Given the description of an element on the screen output the (x, y) to click on. 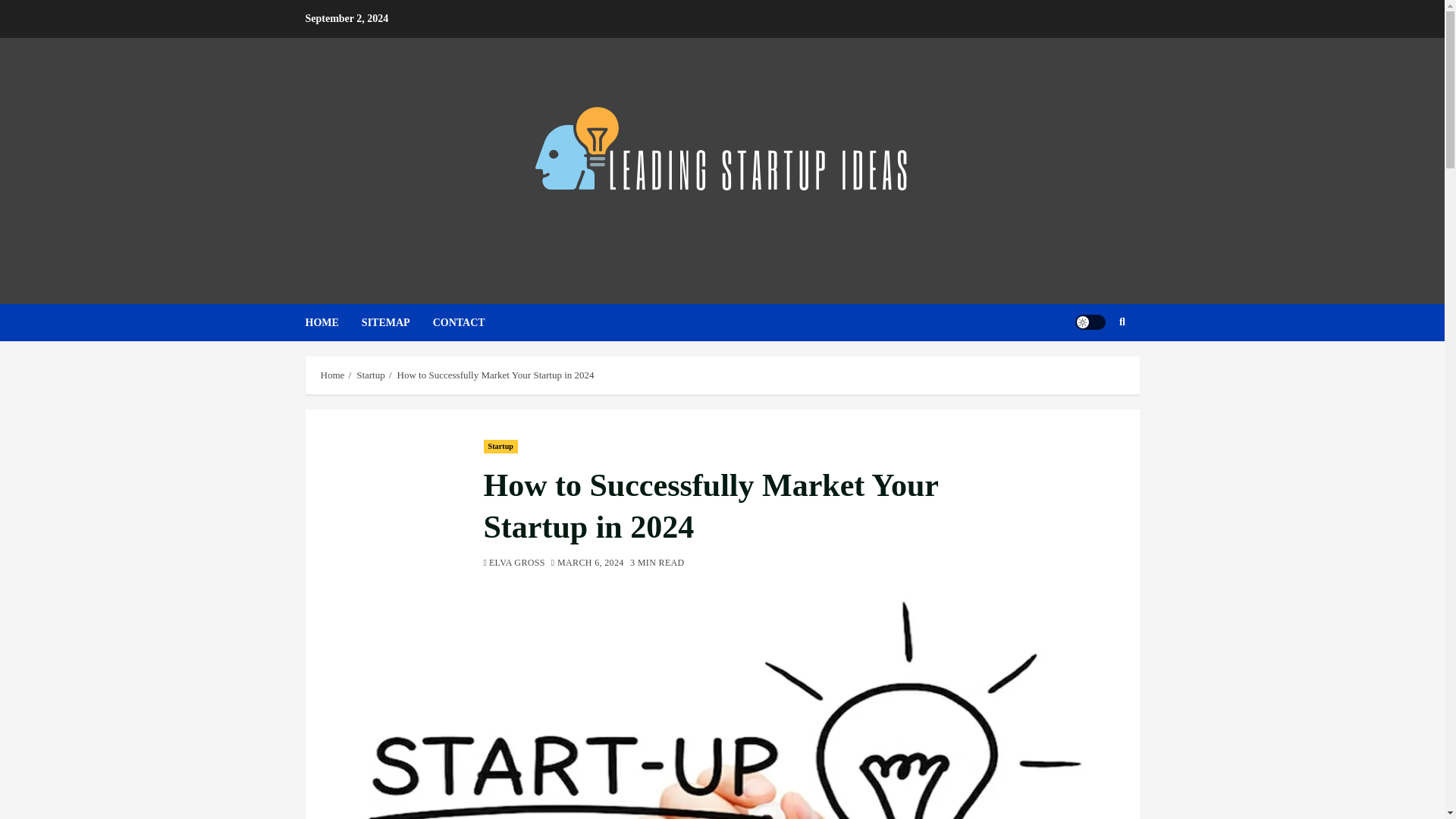
Startup (370, 375)
How to Successfully Market Your Startup in 2024 (495, 375)
Startup (500, 446)
LEADING STARTUP IDEAS (721, 223)
Home (331, 375)
HOME (332, 322)
CONTACT (470, 322)
Search (1092, 368)
ELVA GROSS (516, 563)
SITEMAP (396, 322)
